Given the description of an element on the screen output the (x, y) to click on. 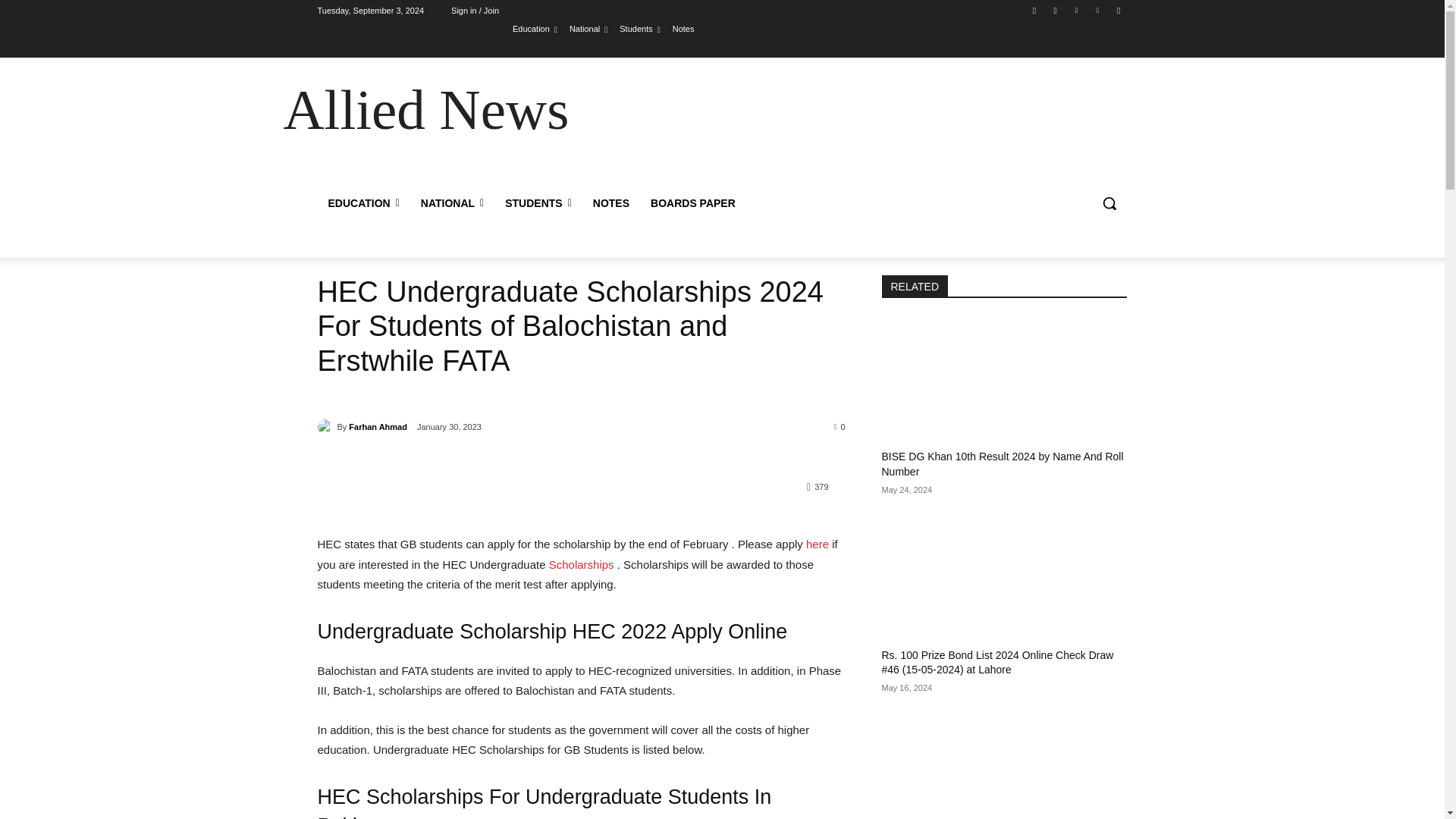
Notes (683, 28)
Instagram (1055, 9)
Vimeo (1097, 9)
Youtube (1117, 9)
Farhan Ahmad (326, 426)
Facebook (1034, 9)
National (588, 28)
Education (534, 28)
Students (639, 28)
Twitter (1075, 9)
